Given the description of an element on the screen output the (x, y) to click on. 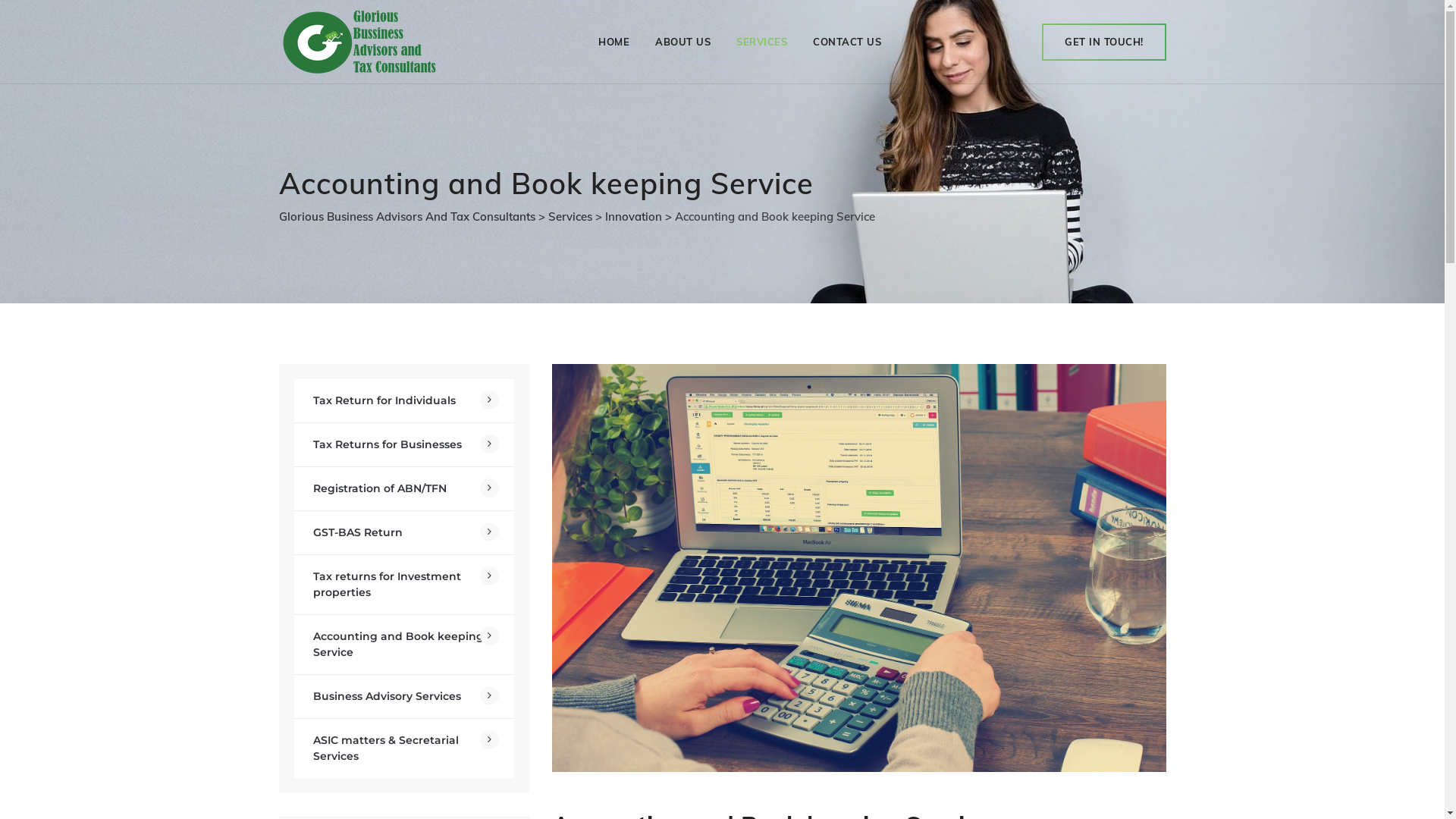
Registration of ABN/TFN Element type: text (404, 488)
HOME Element type: text (613, 41)
SERVICES Element type: text (761, 41)
Services Element type: text (569, 216)
GET IN TOUCH! Element type: text (1103, 41)
Accounting and Book keeping Service Element type: text (404, 644)
Business Advisory Services Element type: text (404, 696)
ASIC matters & Secretarial Services Element type: text (404, 748)
CONTACT US Element type: text (846, 41)
Tax Returns for Businesses Element type: text (404, 444)
ABOUT US Element type: text (682, 41)
Tax Return for Individuals Element type: text (404, 400)
GST-BAS Return Element type: text (404, 532)
Glorious Business Advisors And Tax Consultants Element type: text (407, 216)
Glorious Business Advisors And Tax Consultants Element type: hover (358, 41)
Innovation Element type: text (633, 216)
Tax returns for Investment properties Element type: text (404, 584)
